Given the description of an element on the screen output the (x, y) to click on. 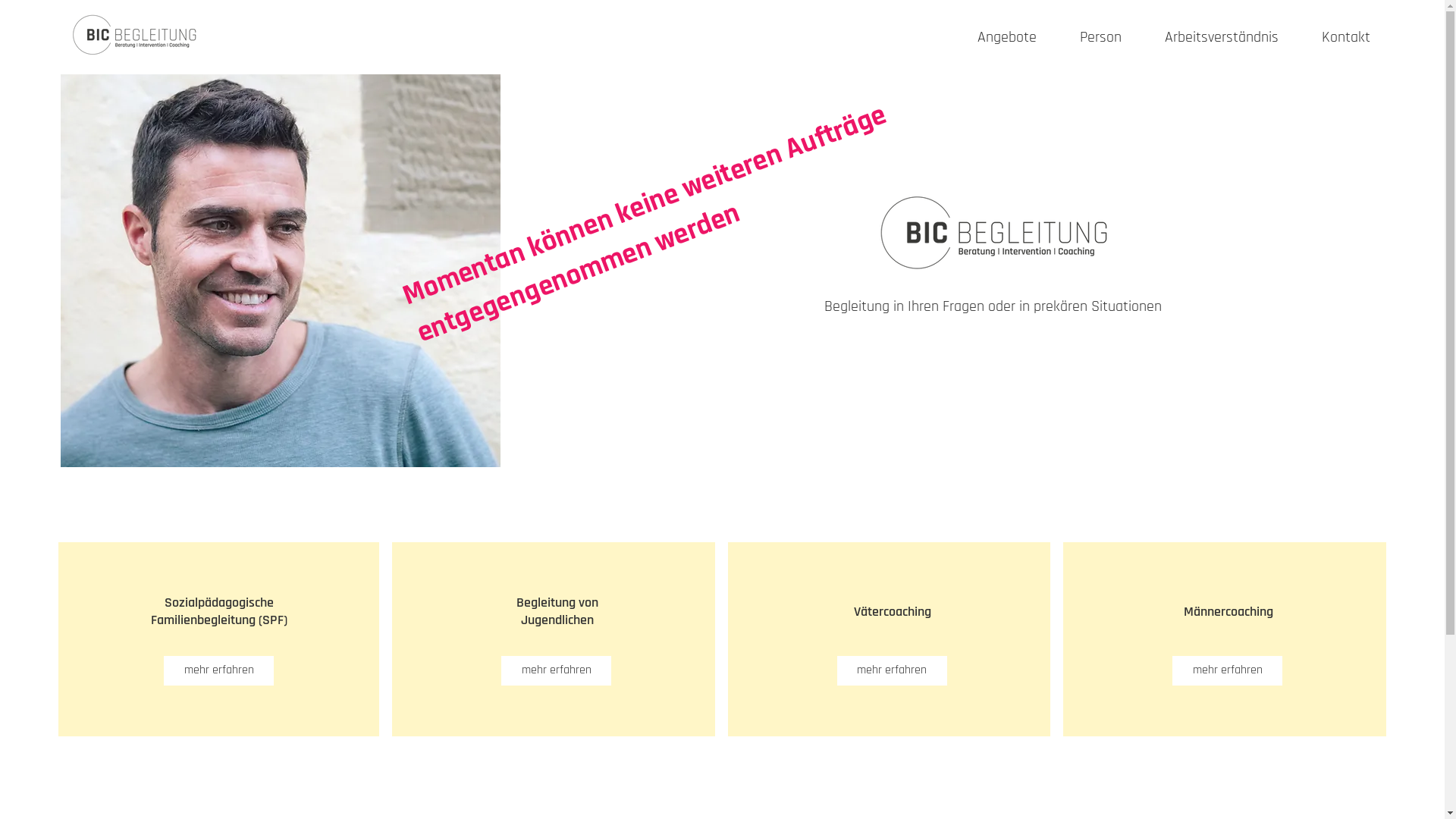
mehr erfahren Element type: text (218, 670)
Kontakt Element type: text (1335, 37)
Angebote Element type: text (996, 37)
mehr erfahren Element type: text (892, 670)
mehr erfahren Element type: text (556, 670)
Person Element type: text (1090, 37)
mehr erfahren Element type: text (1227, 670)
